Given the description of an element on the screen output the (x, y) to click on. 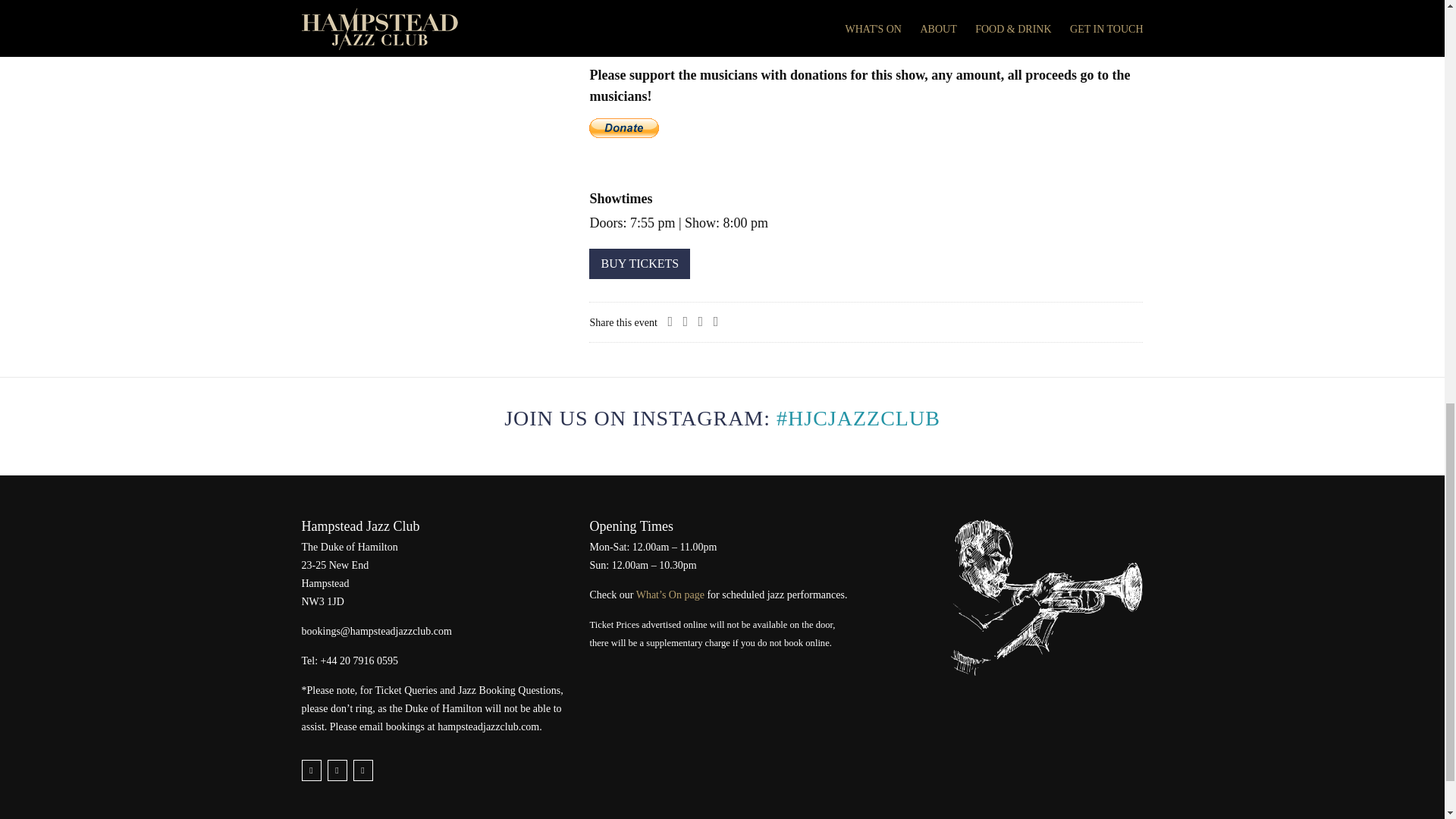
BUY TICKETS (639, 263)
Follow Hampstead Jazz Club on Instagram (362, 770)
Follow Hampstead Jazz Club on Facebook (337, 770)
PayPal - The safer, easier way to pay online! (624, 127)
Follow Hampstead Jazz Club on Twitter (311, 770)
